Given the description of an element on the screen output the (x, y) to click on. 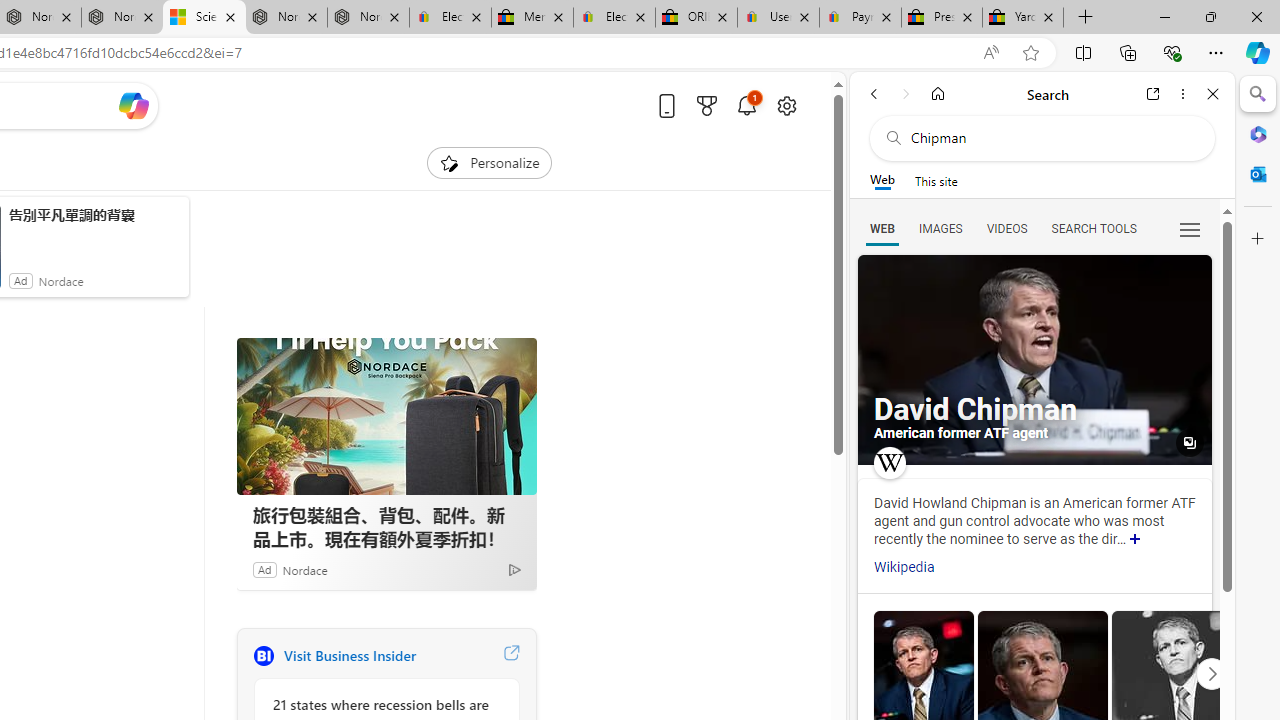
Search Filter, VIDEOS (1006, 228)
Payments Terms of Use | eBay.com (860, 17)
